Given the description of an element on the screen output the (x, y) to click on. 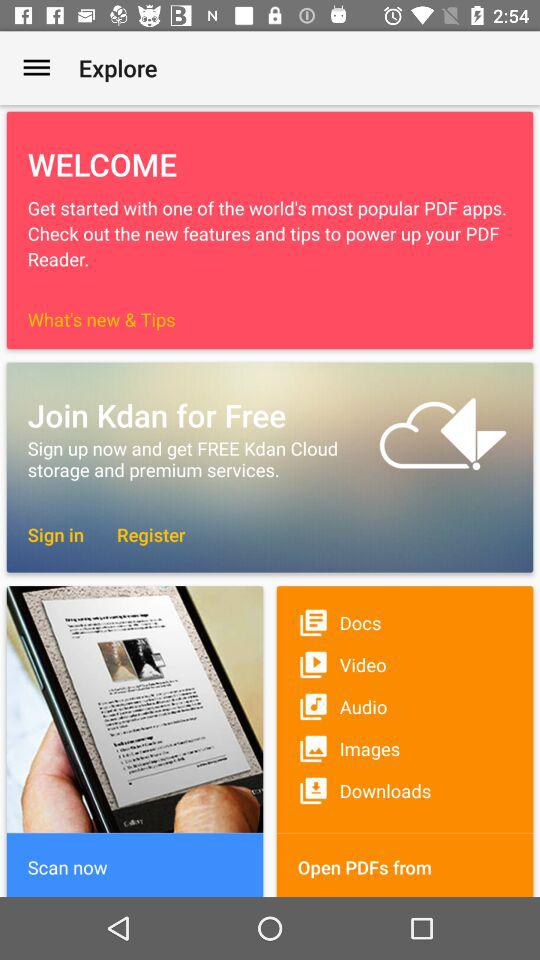
swipe until the docs icon (404, 622)
